Given the description of an element on the screen output the (x, y) to click on. 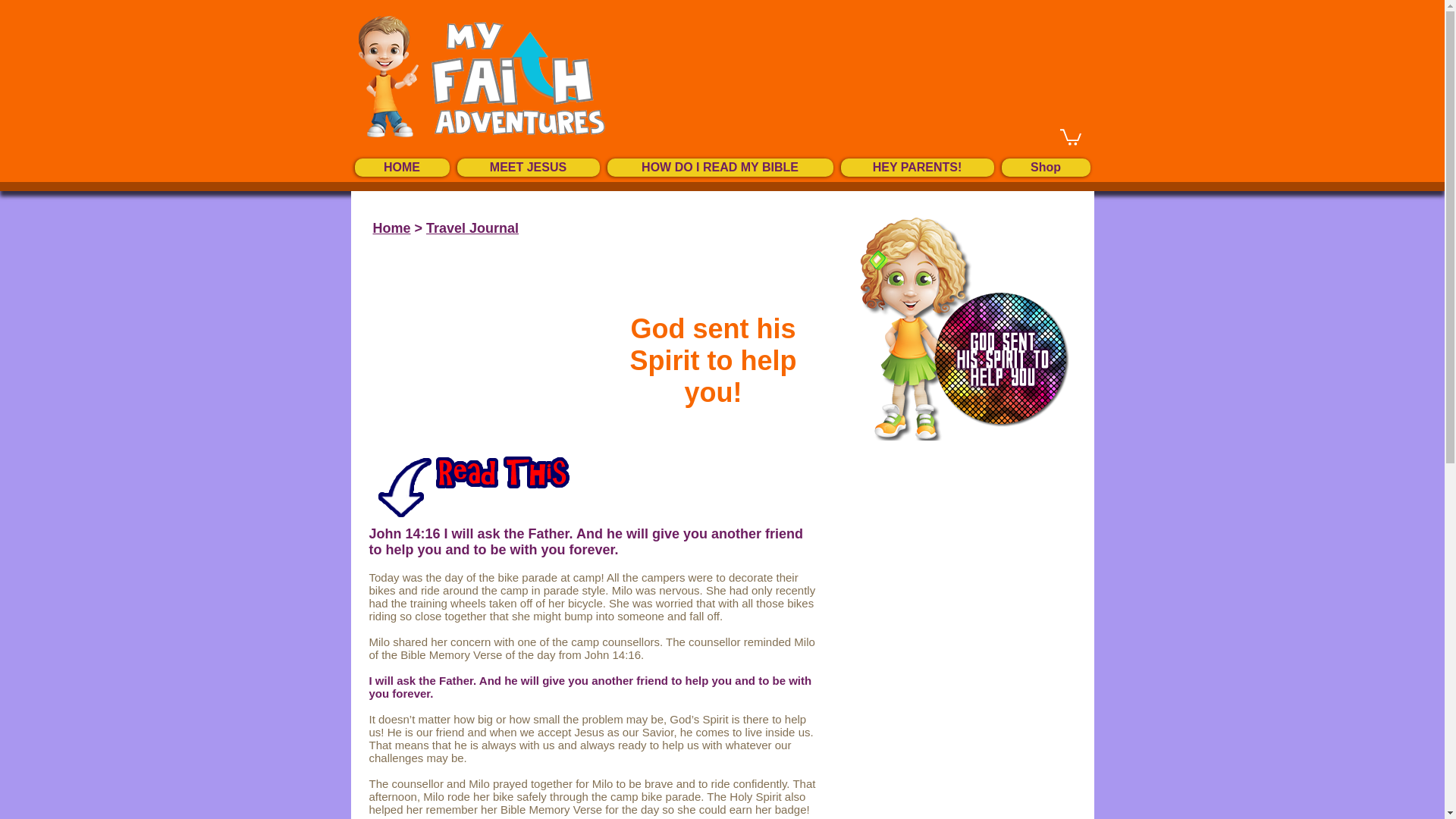
Home (391, 227)
HOW DO I READ MY BIBLE (719, 167)
Travel Journal (472, 227)
Shop (1045, 167)
MEET JESUS (527, 167)
HOME (402, 167)
HEY PARENTS! (916, 167)
